Given the description of an element on the screen output the (x, y) to click on. 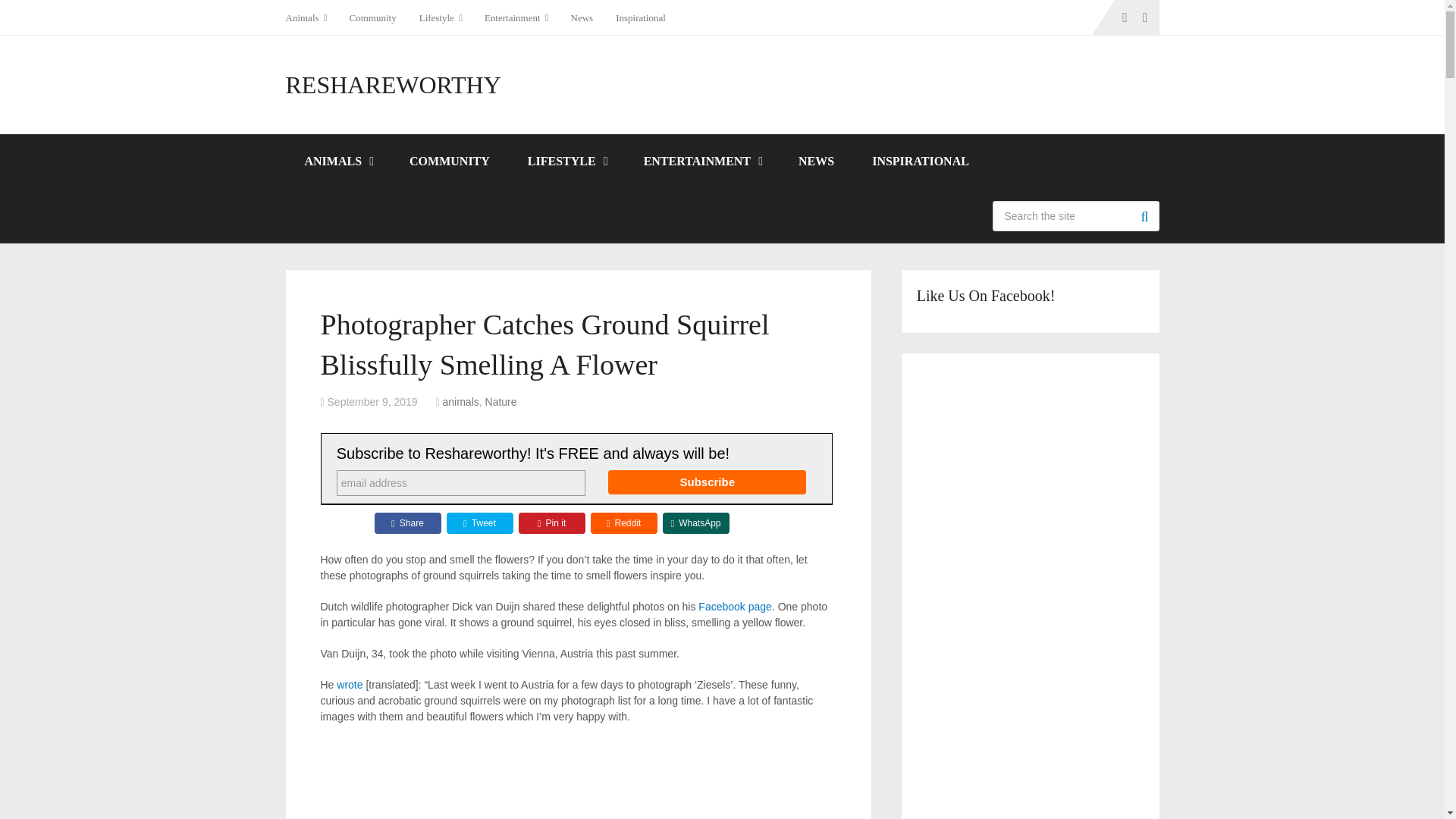
RESHAREWORTHY (392, 84)
NEWS (815, 161)
Subscribe (707, 482)
COMMUNITY (449, 161)
ANIMALS (337, 161)
View all posts in animals (460, 401)
News (582, 17)
Animals (311, 17)
Entertainment (516, 17)
Search (1143, 215)
LIFESTYLE (566, 161)
Lifestyle (440, 17)
View all posts in Nature (500, 401)
INSPIRATIONAL (920, 161)
Community (372, 17)
